Given the description of an element on the screen output the (x, y) to click on. 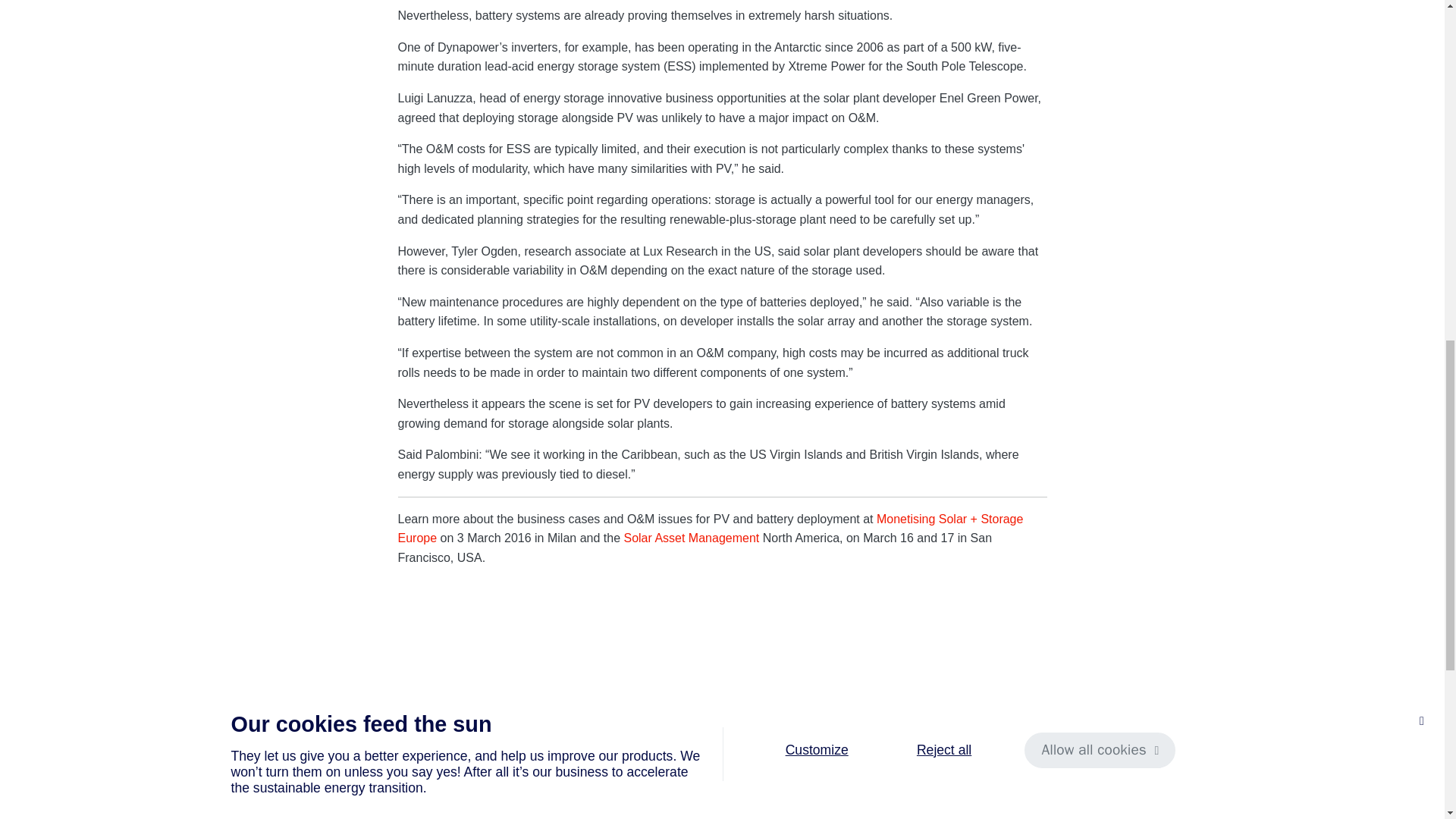
Events overview (928, 711)
Events overview (928, 711)
 Solar Asset Management (689, 537)
